Given the description of an element on the screen output the (x, y) to click on. 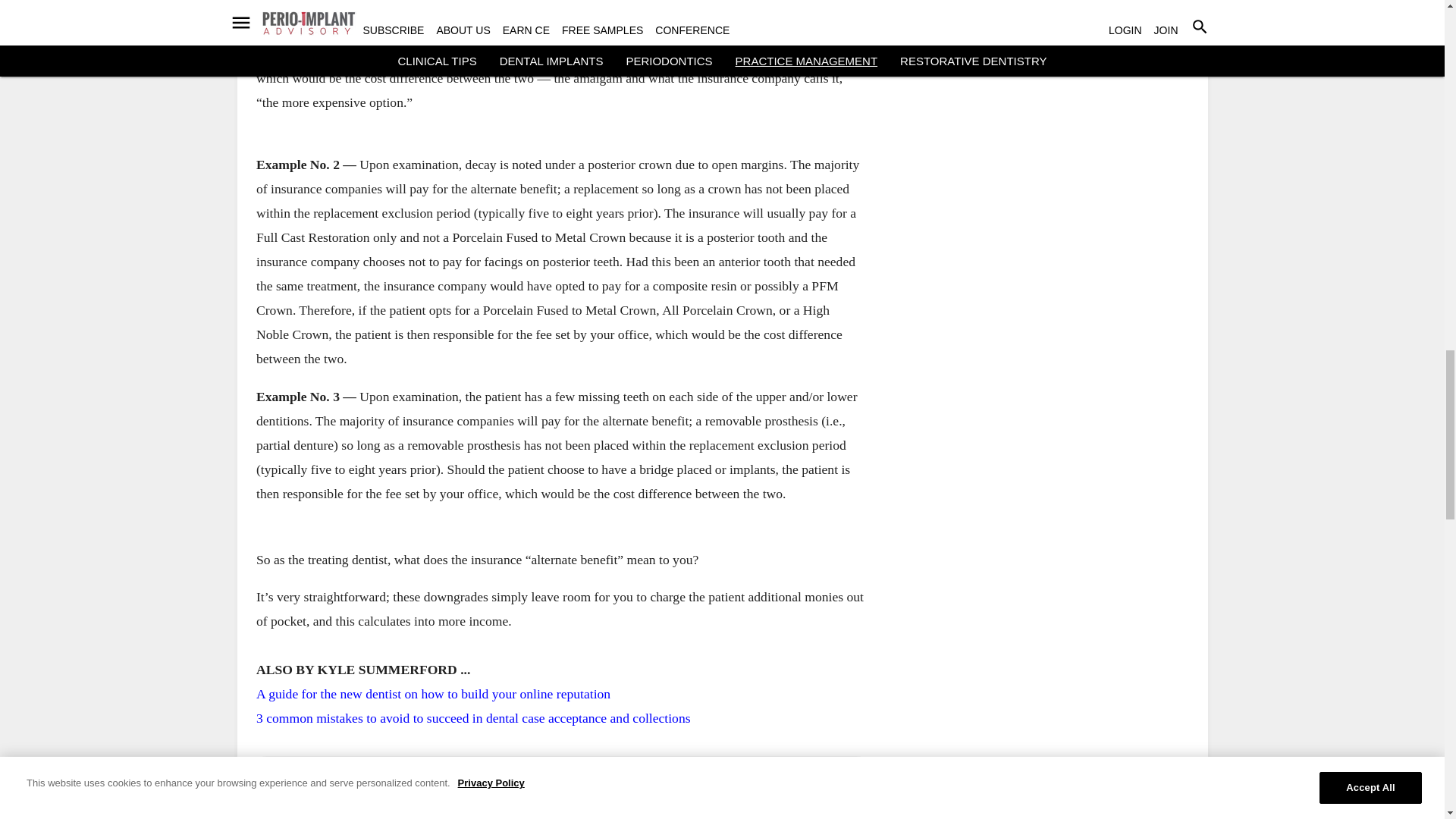
Content Dam Diq Online Articles 2013 08 Kylesummerford (559, 788)
